Given the description of an element on the screen output the (x, y) to click on. 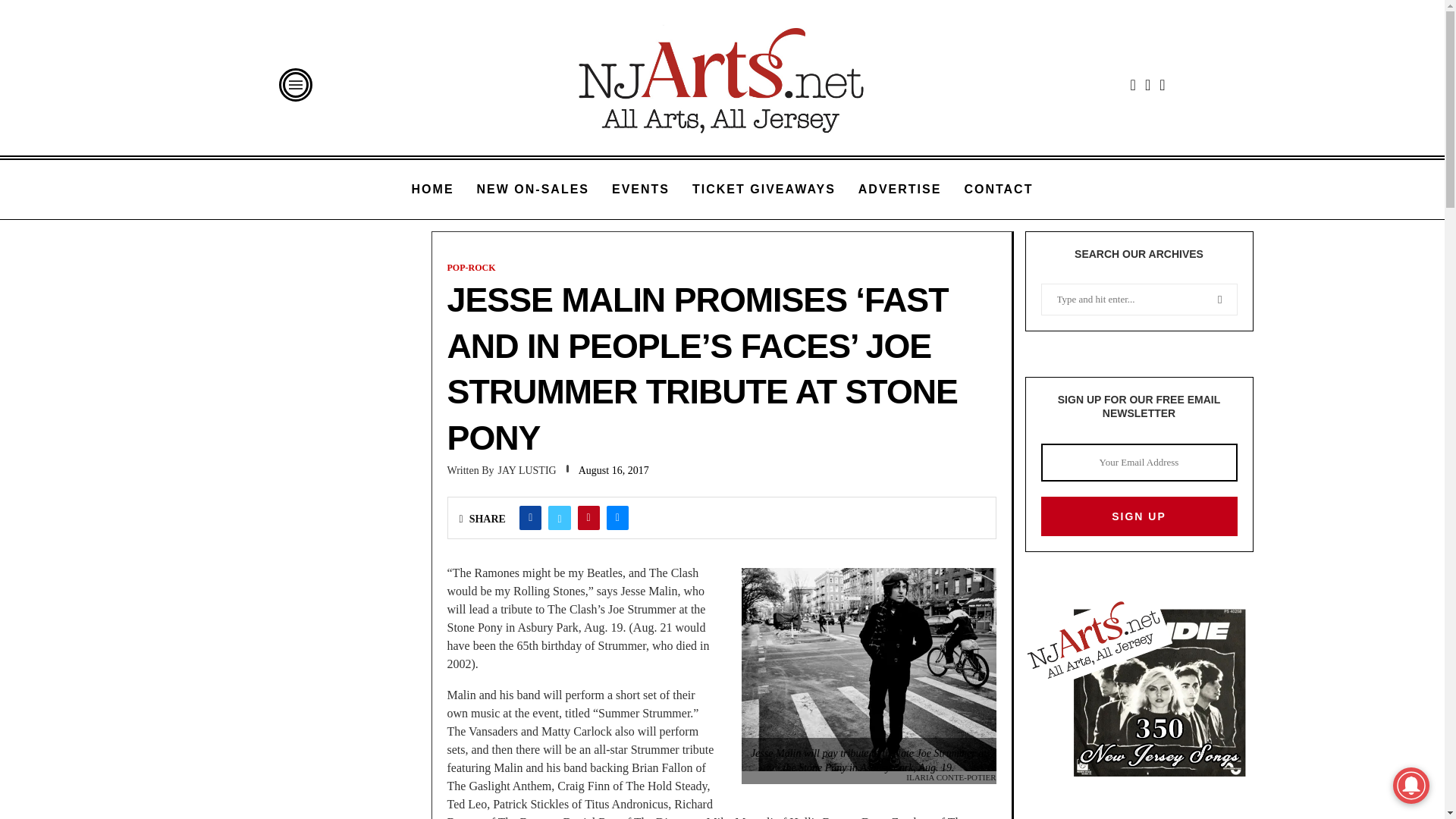
NEW ON-SALES (533, 189)
JAY LUSTIG (501, 470)
CONTACT (997, 189)
EVENTS (640, 189)
ADVERTISE (900, 189)
HOME (433, 189)
TICKET GIVEAWAYS (764, 189)
POP-ROCK (471, 267)
Sign up (1138, 516)
